Given the description of an element on the screen output the (x, y) to click on. 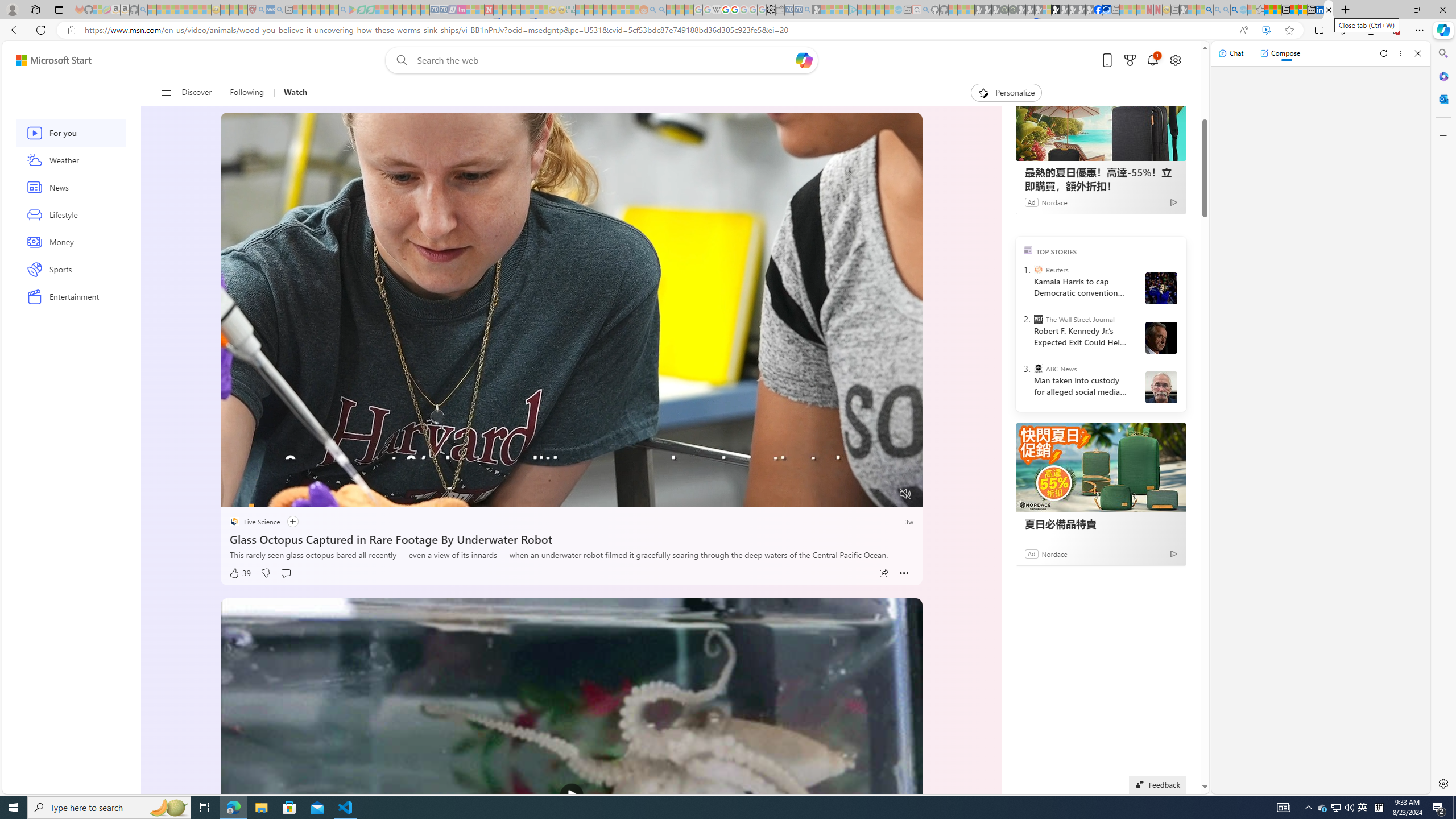
AQI & Health | AirNow.gov (1106, 9)
Target page - Wikipedia - Sleeping (716, 9)
